Given the description of an element on the screen output the (x, y) to click on. 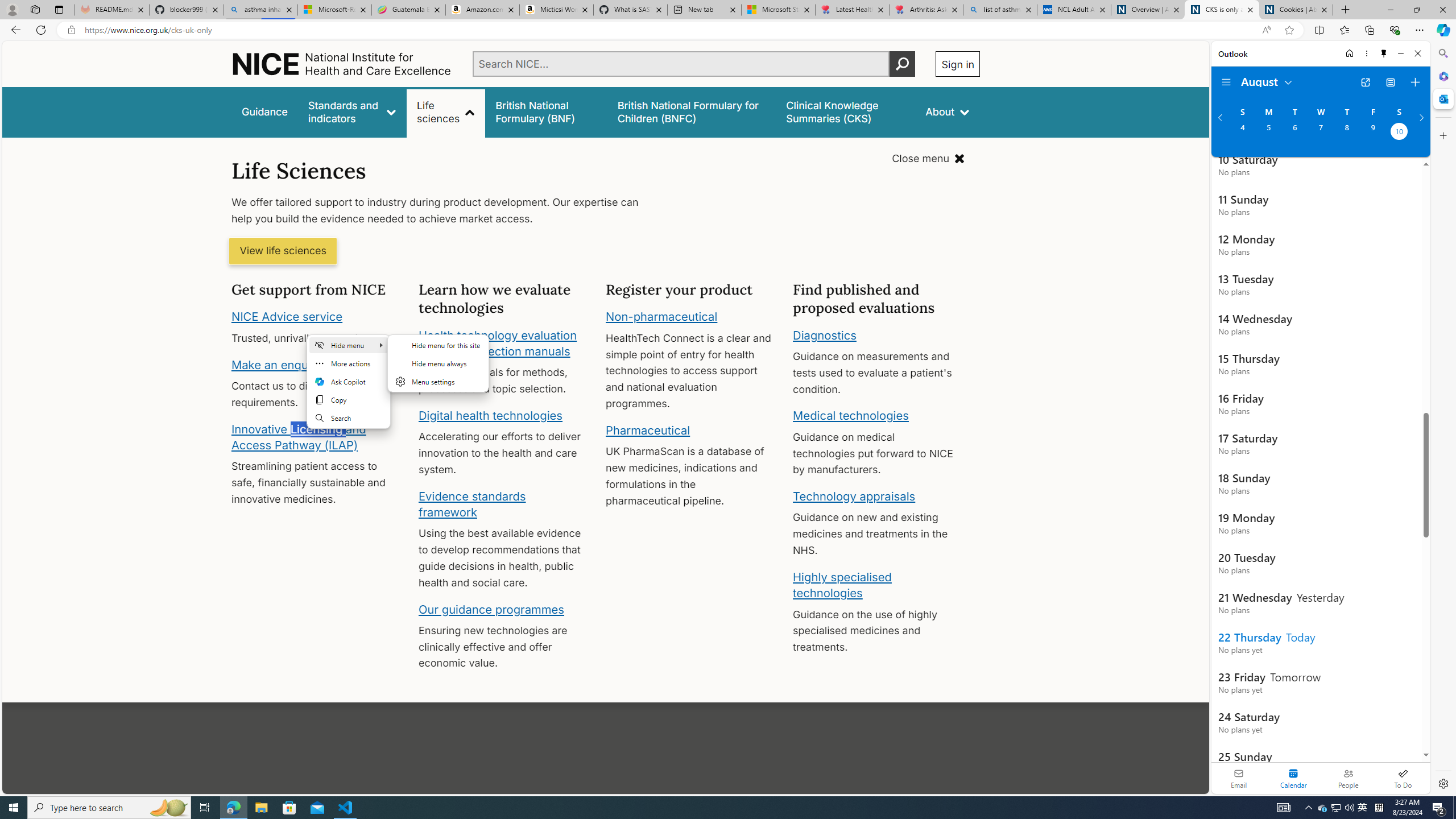
Cookies | About | NICE (1295, 9)
Our guidance programmes (490, 608)
Open in new tab (1365, 82)
Saturday, August 10, 2024. Date selected.  (1399, 132)
Hide menu always (438, 363)
Non-pharmaceutical (661, 316)
false (845, 111)
